Given the description of an element on the screen output the (x, y) to click on. 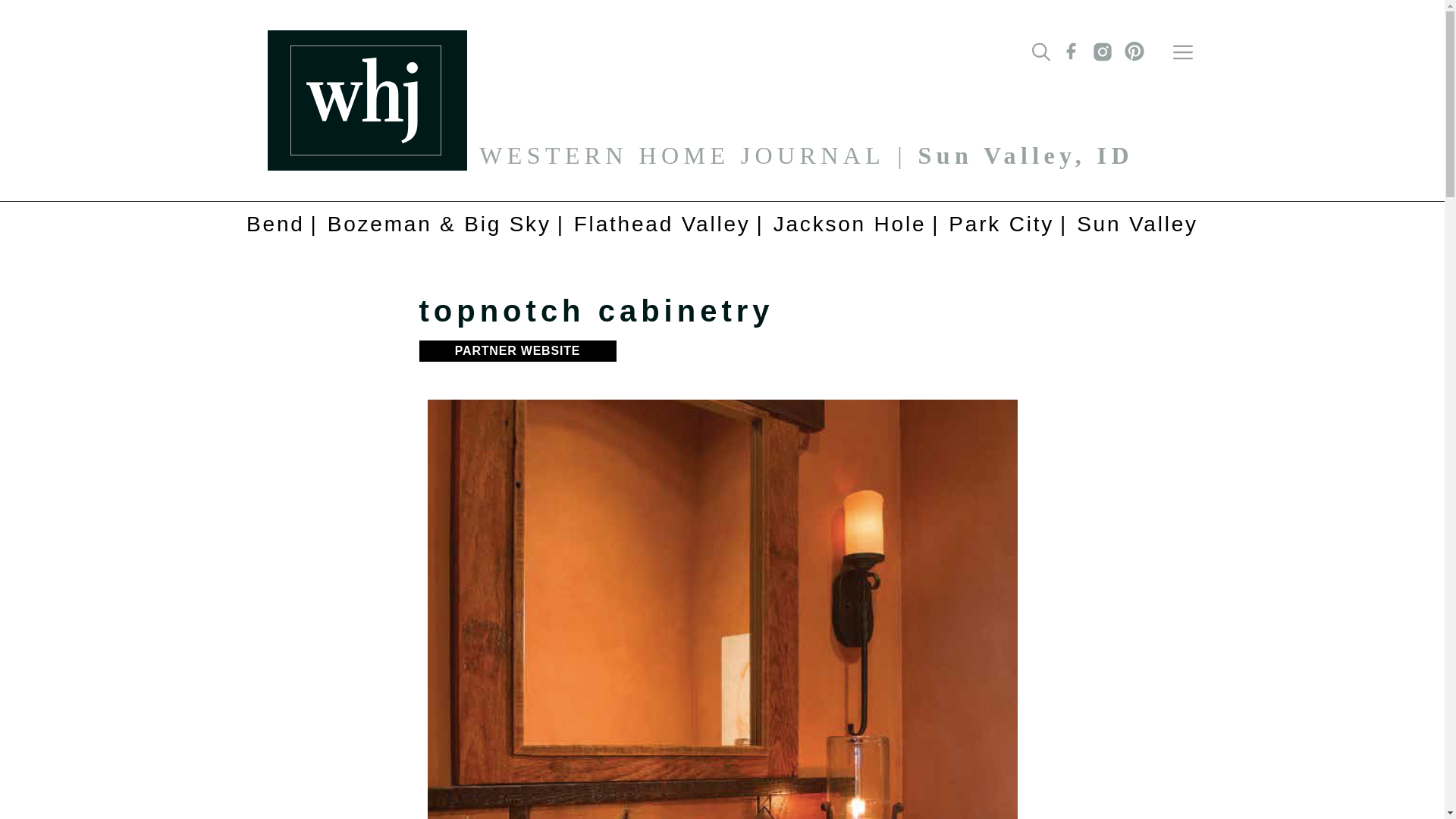
Jackson Hole Magazines (849, 224)
Park City Magazines (1001, 224)
PARTNER WEBSITE (517, 350)
Jackson Hole (849, 224)
Flathead Valley (661, 224)
Bend (280, 224)
Flathead Valley Magazines (661, 224)
Sun Valley (1131, 224)
